Given the description of an element on the screen output the (x, y) to click on. 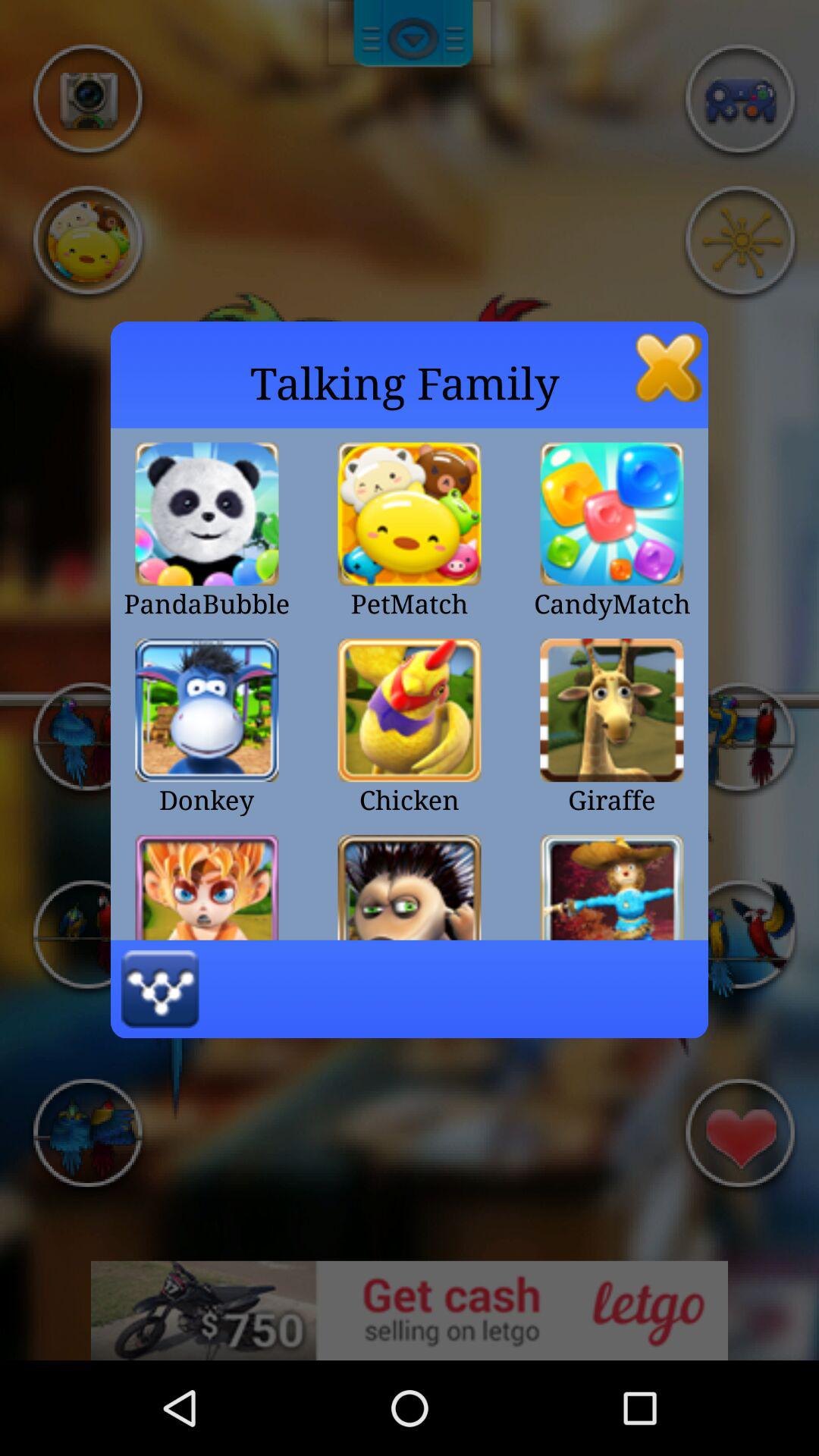
turn off the icon at the bottom left corner (160, 989)
